Given the description of an element on the screen output the (x, y) to click on. 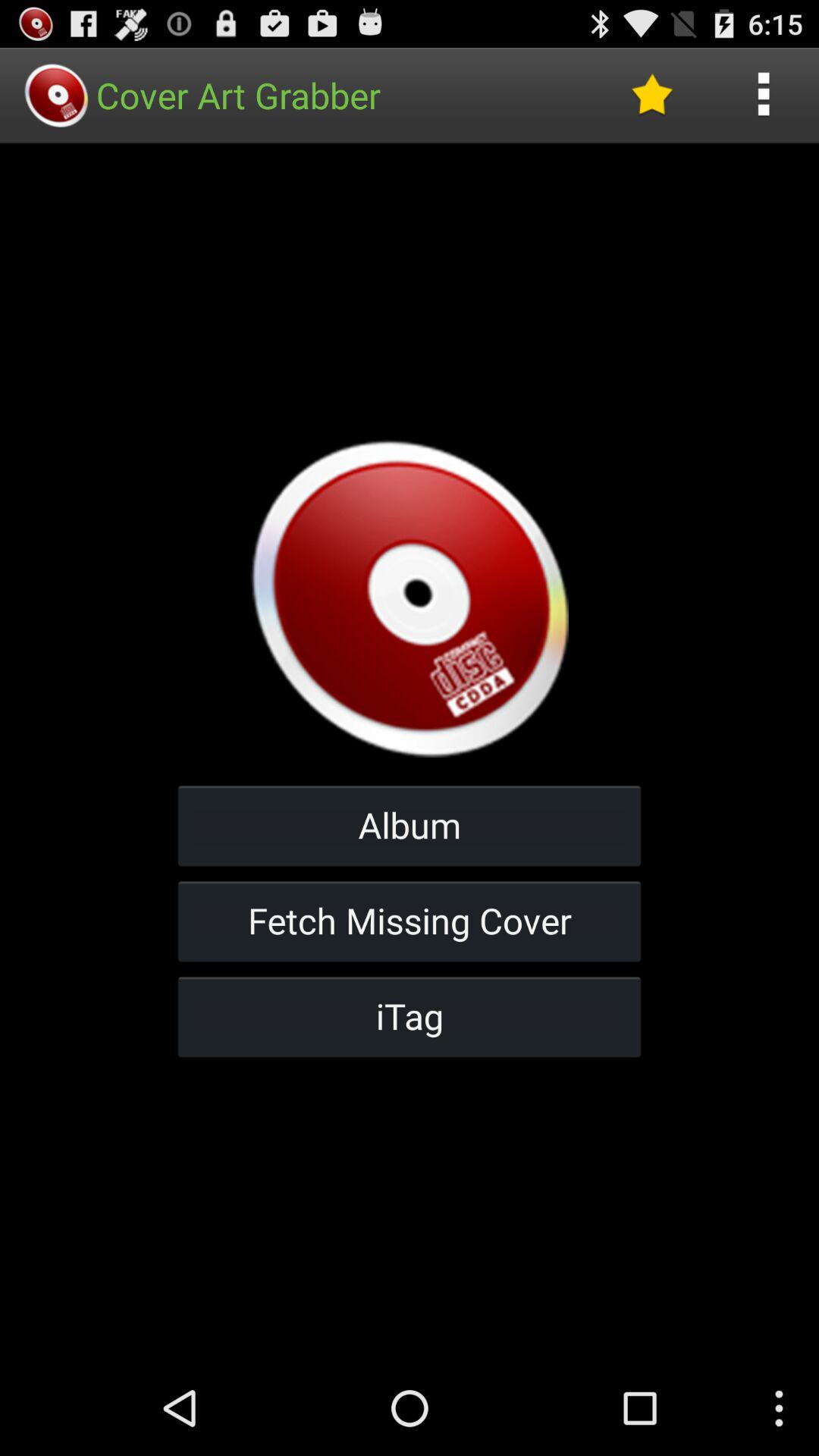
press the item above itag (409, 920)
